Given the description of an element on the screen output the (x, y) to click on. 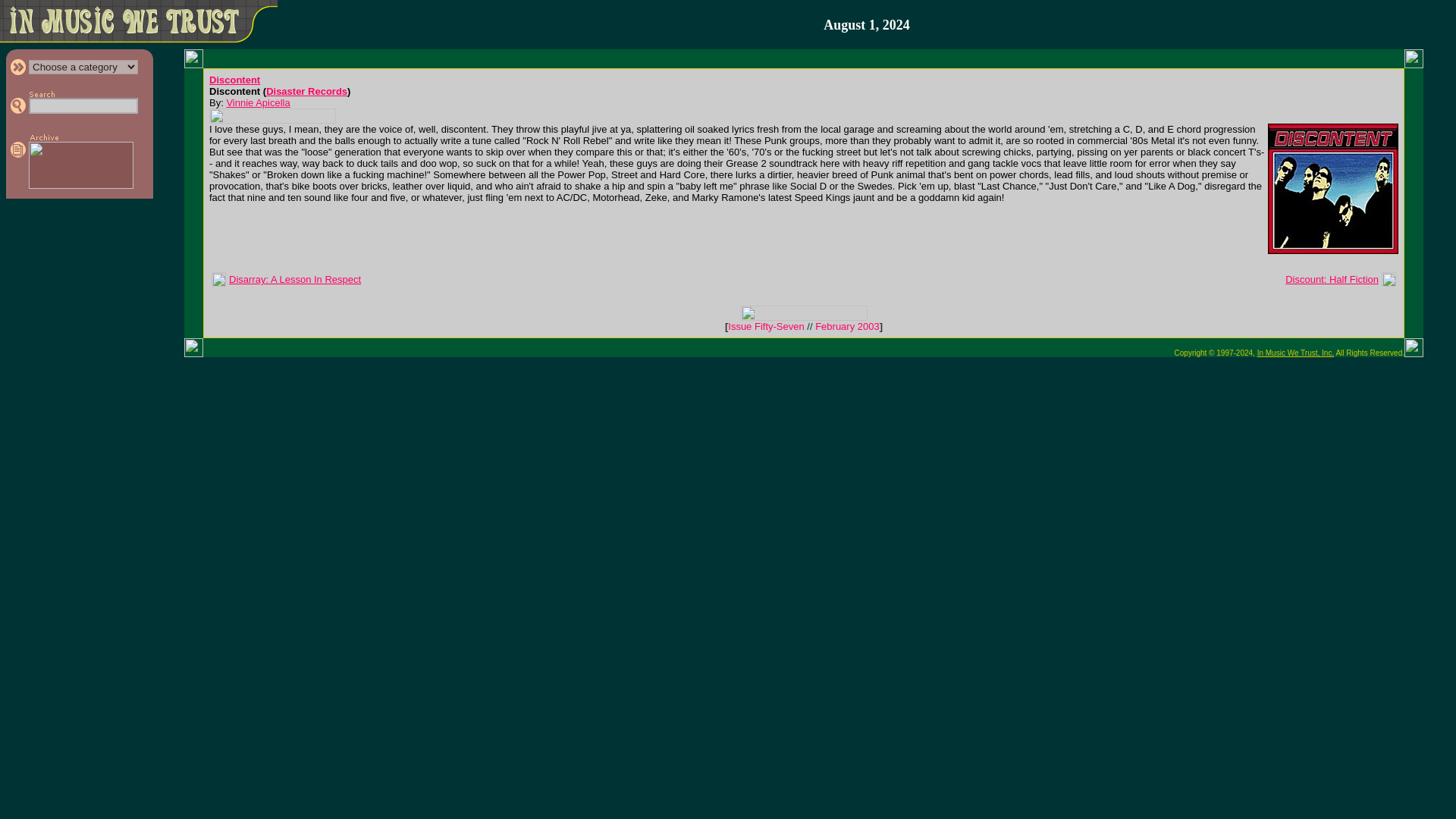
Disaster Records (306, 91)
Discontent (234, 79)
August 1, 2024 (867, 24)
Disarray: A Lesson In Respect (294, 279)
Vinnie Apicella (257, 102)
Discount: Half Fiction (1331, 279)
In Music We Trust, Inc. (1296, 352)
